Given the description of an element on the screen output the (x, y) to click on. 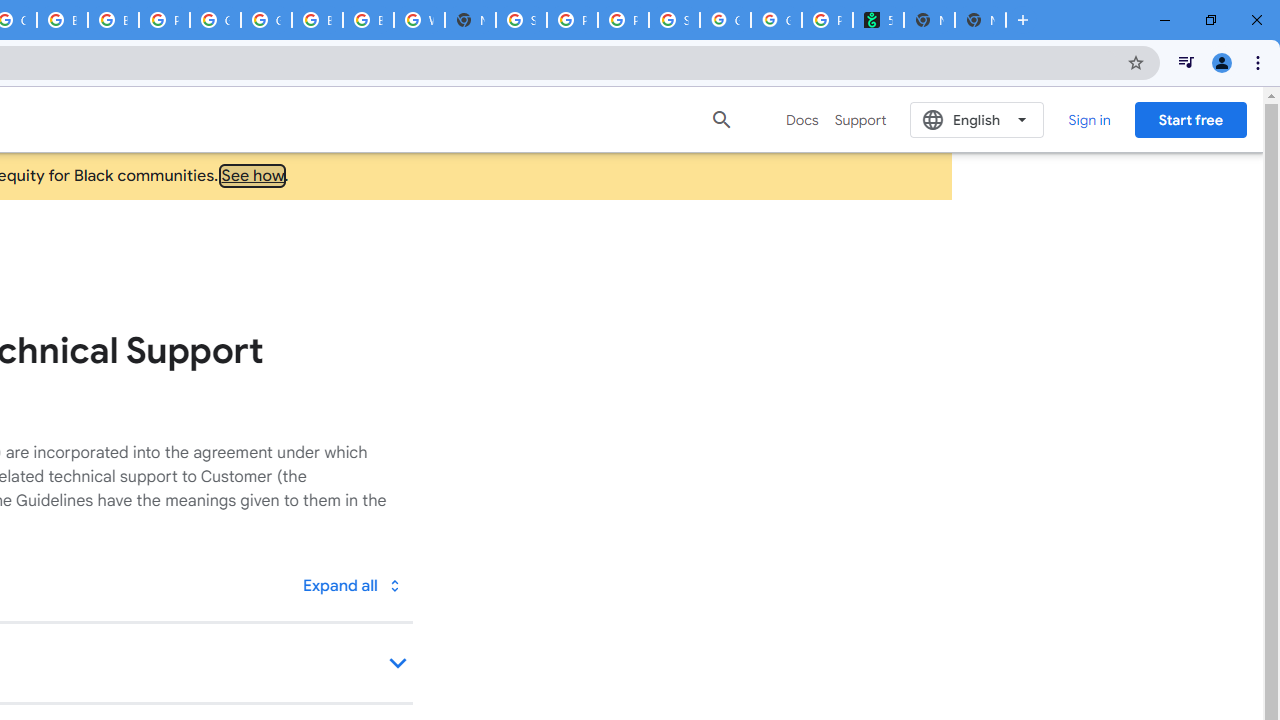
Support (860, 119)
Toggle all (351, 584)
Google Cloud Platform (214, 20)
Browse Chrome as a guest - Computer - Google Chrome Help (113, 20)
